Given the description of an element on the screen output the (x, y) to click on. 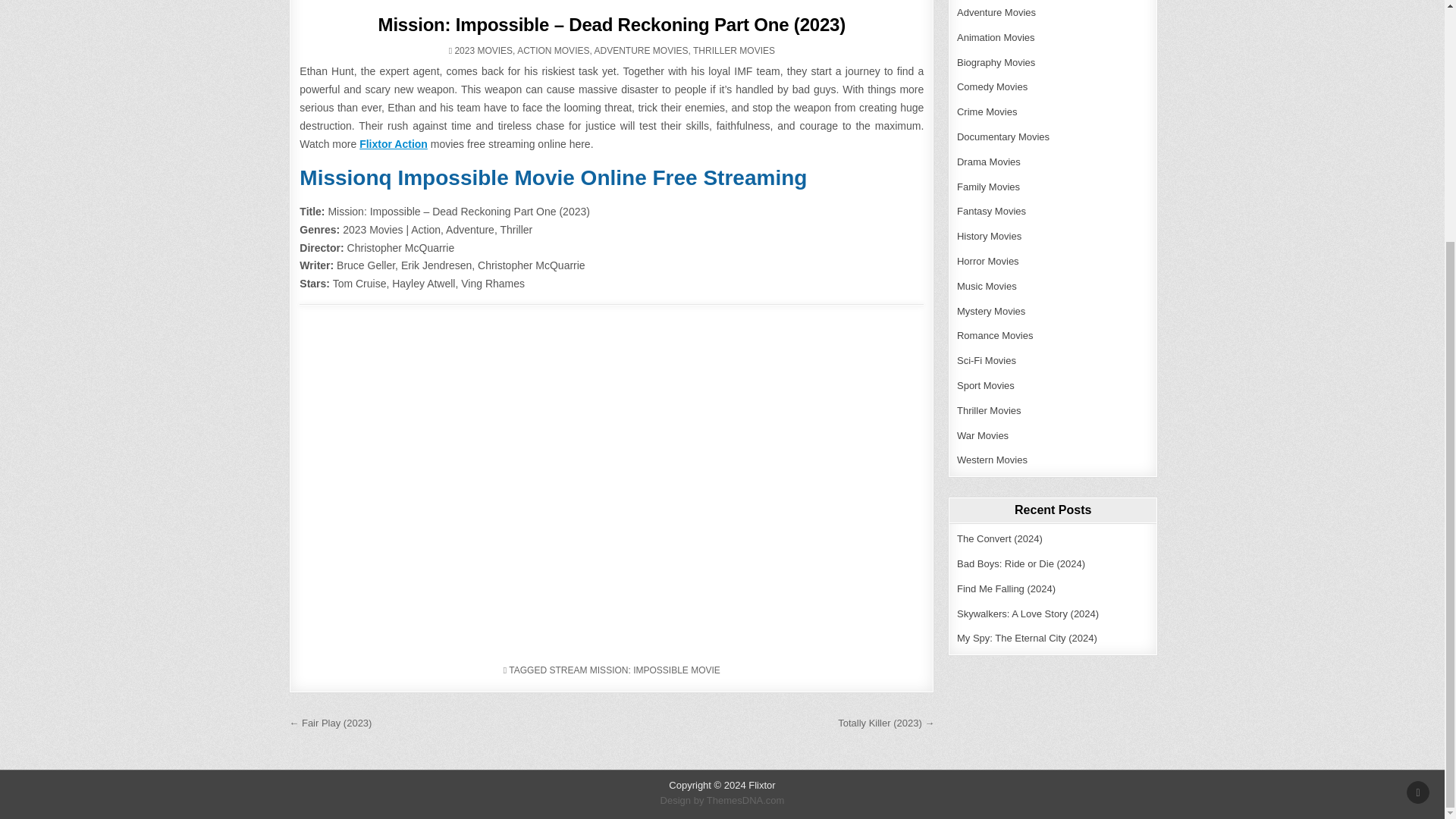
Scroll to Top (1417, 458)
ACTION MOVIES (552, 50)
Family Movies (988, 186)
Flixtor Action (393, 143)
ADVENTURE MOVIES (640, 50)
THRILLER MOVIES (733, 50)
Adventure Movies (995, 12)
STREAM MISSION: IMPOSSIBLE MOVIE (633, 670)
Drama Movies (988, 161)
Biography Movies (995, 61)
Documentary Movies (1002, 136)
Comedy Movies (991, 86)
History Movies (989, 235)
SCROLL TO TOP (1417, 458)
Fantasy Movies (991, 211)
